Given the description of an element on the screen output the (x, y) to click on. 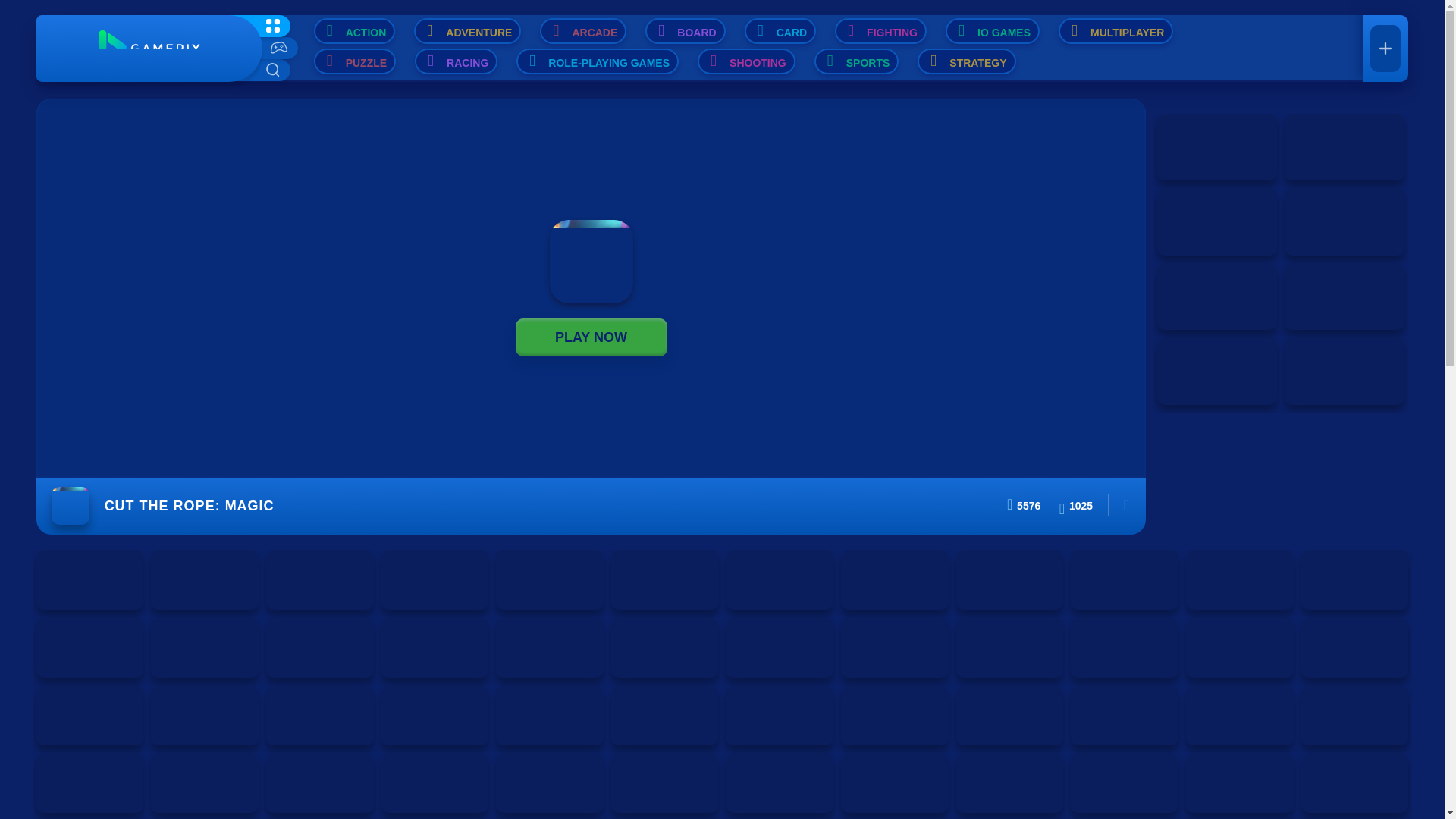
STRATEGY (965, 61)
Welcome to gamepix.com (149, 48)
Open Arcade (583, 31)
Open Role-Playing Games (597, 61)
CARD (779, 31)
Open Io Games (991, 31)
Open Racing (455, 61)
Open Shooting (745, 61)
SPORTS (856, 61)
Open Puzzle (355, 61)
MULTIPLAYER (1115, 31)
ADVENTURE (467, 31)
BOARD (685, 31)
Open Action (355, 31)
